Given the description of an element on the screen output the (x, y) to click on. 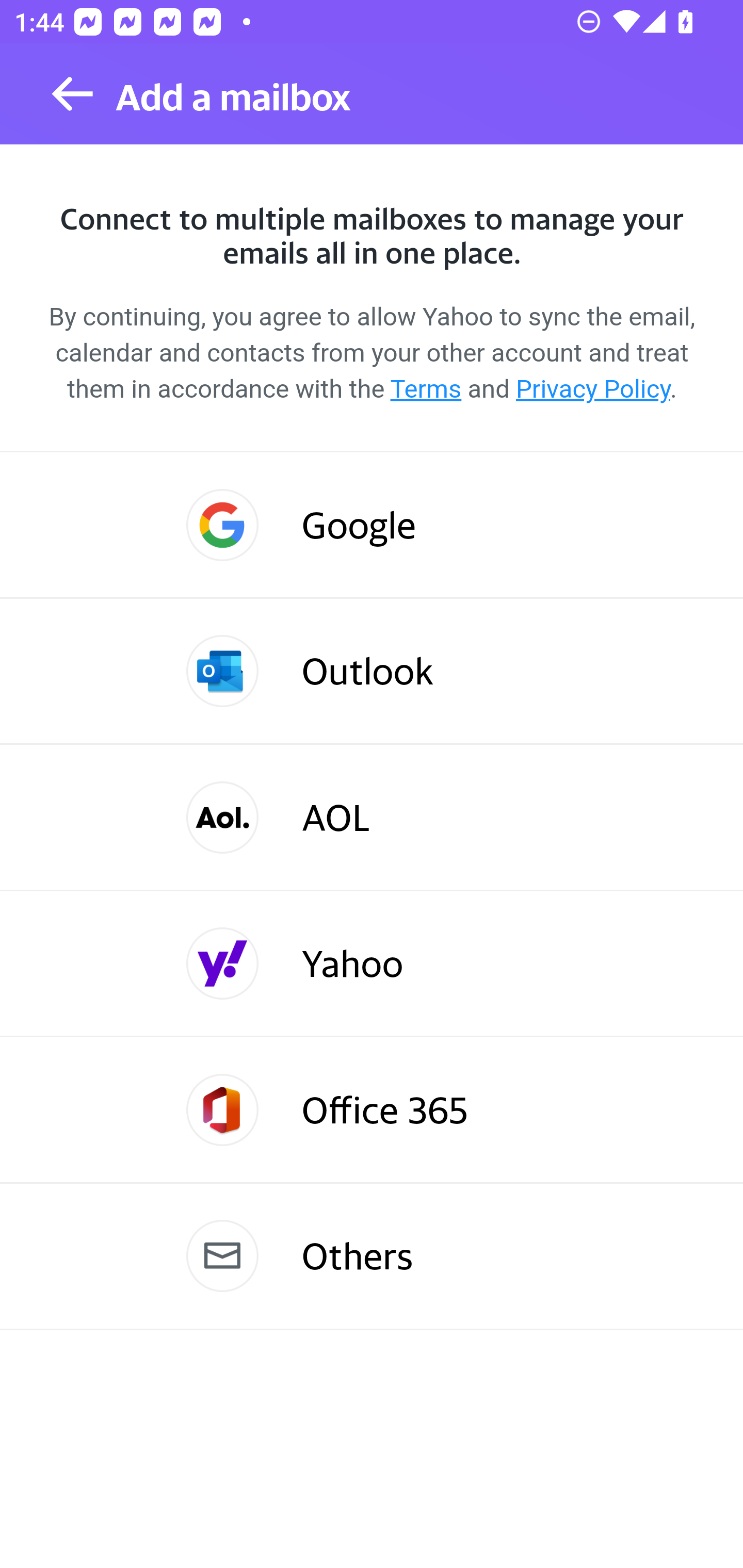
Back (71, 93)
Terms (426, 388)
Privacy Policy (592, 388)
